Given the description of an element on the screen output the (x, y) to click on. 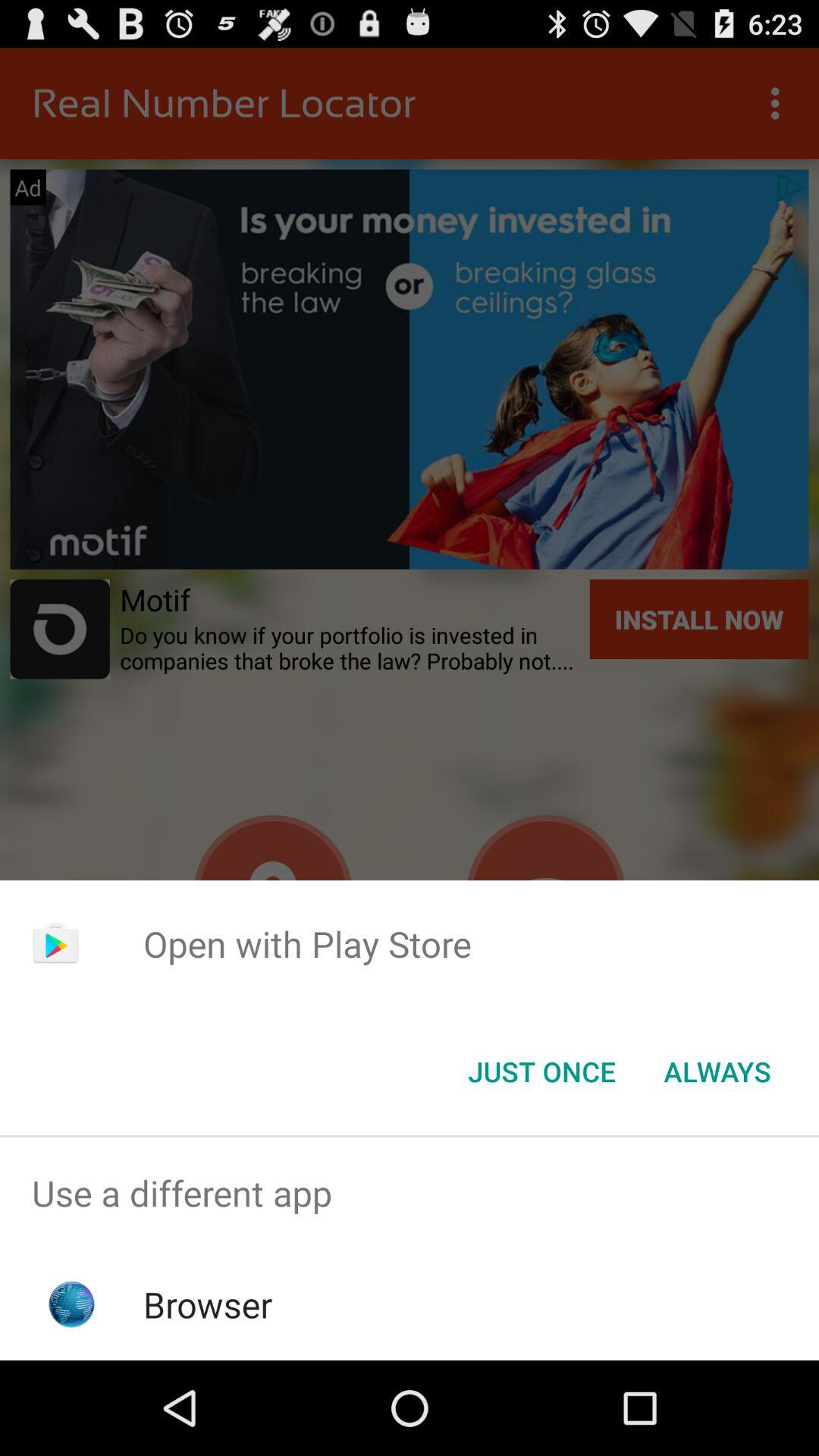
open use a different app (409, 1192)
